Given the description of an element on the screen output the (x, y) to click on. 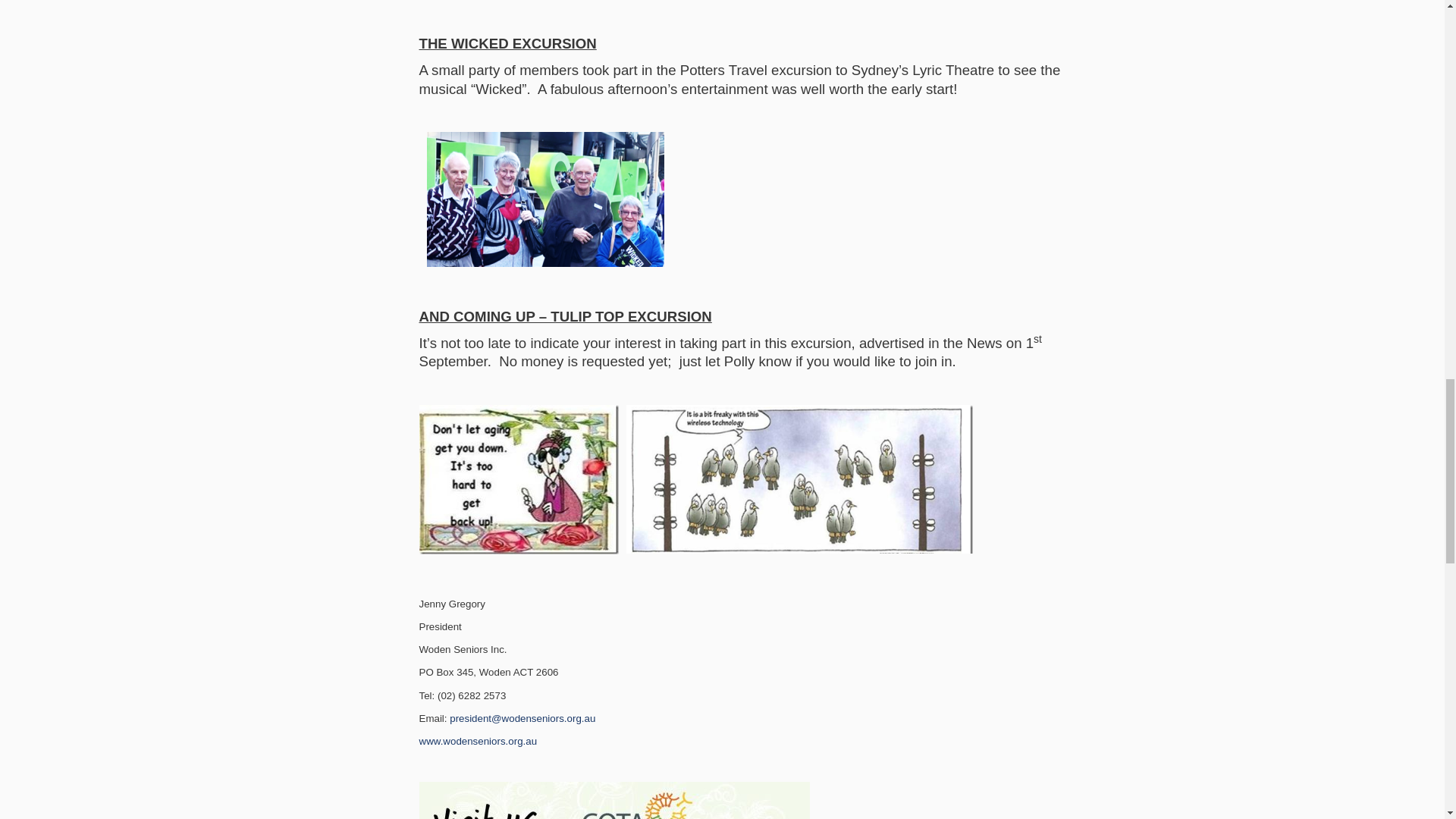
www.wodenseniors.org.au (478, 740)
